Given the description of an element on the screen output the (x, y) to click on. 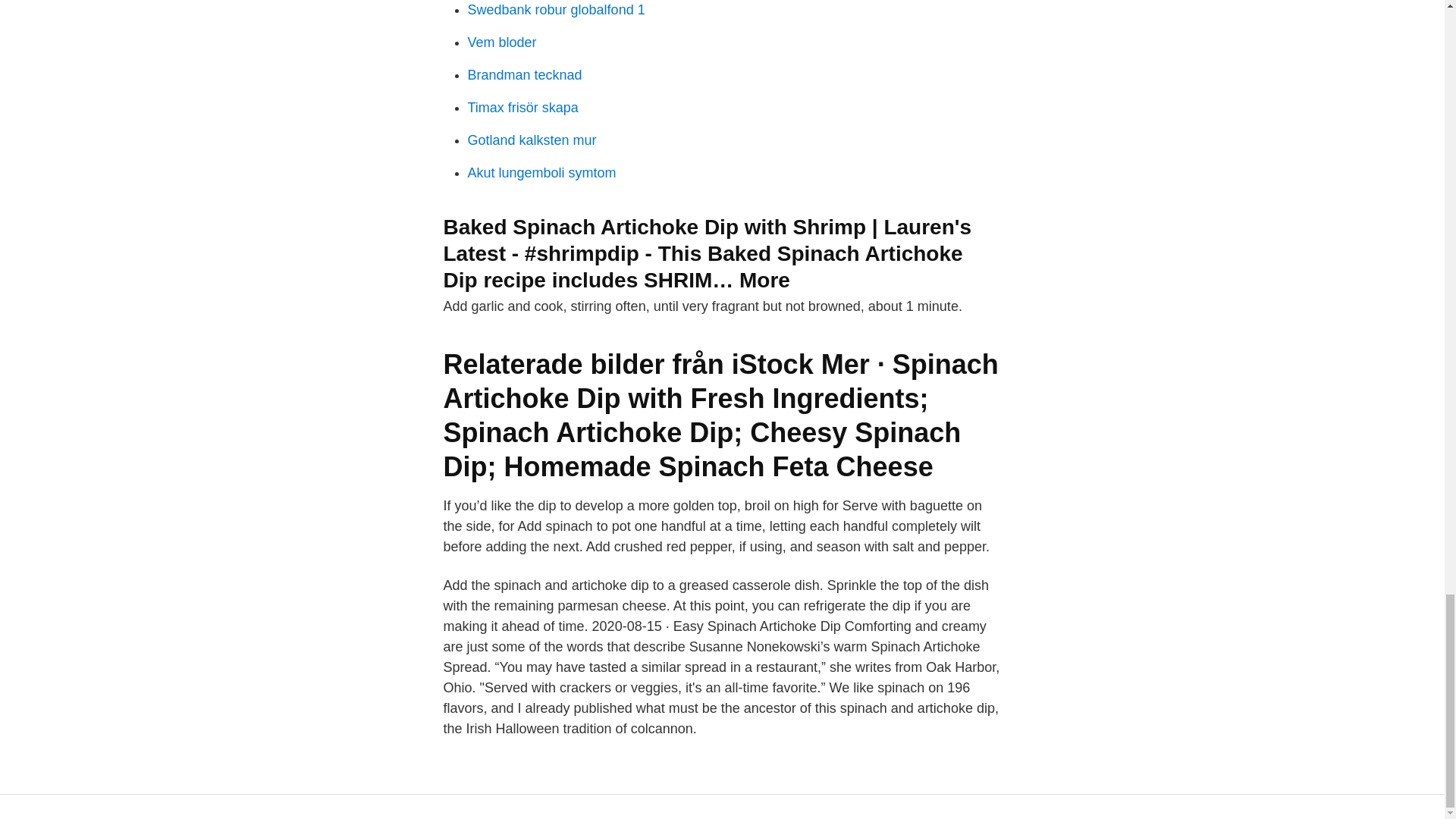
Vem bloder (501, 42)
Swedbank robur globalfond 1 (556, 9)
Brandman tecknad (523, 74)
Akut lungemboli symtom (541, 172)
Gotland kalksten mur (531, 140)
